Given the description of an element on the screen output the (x, y) to click on. 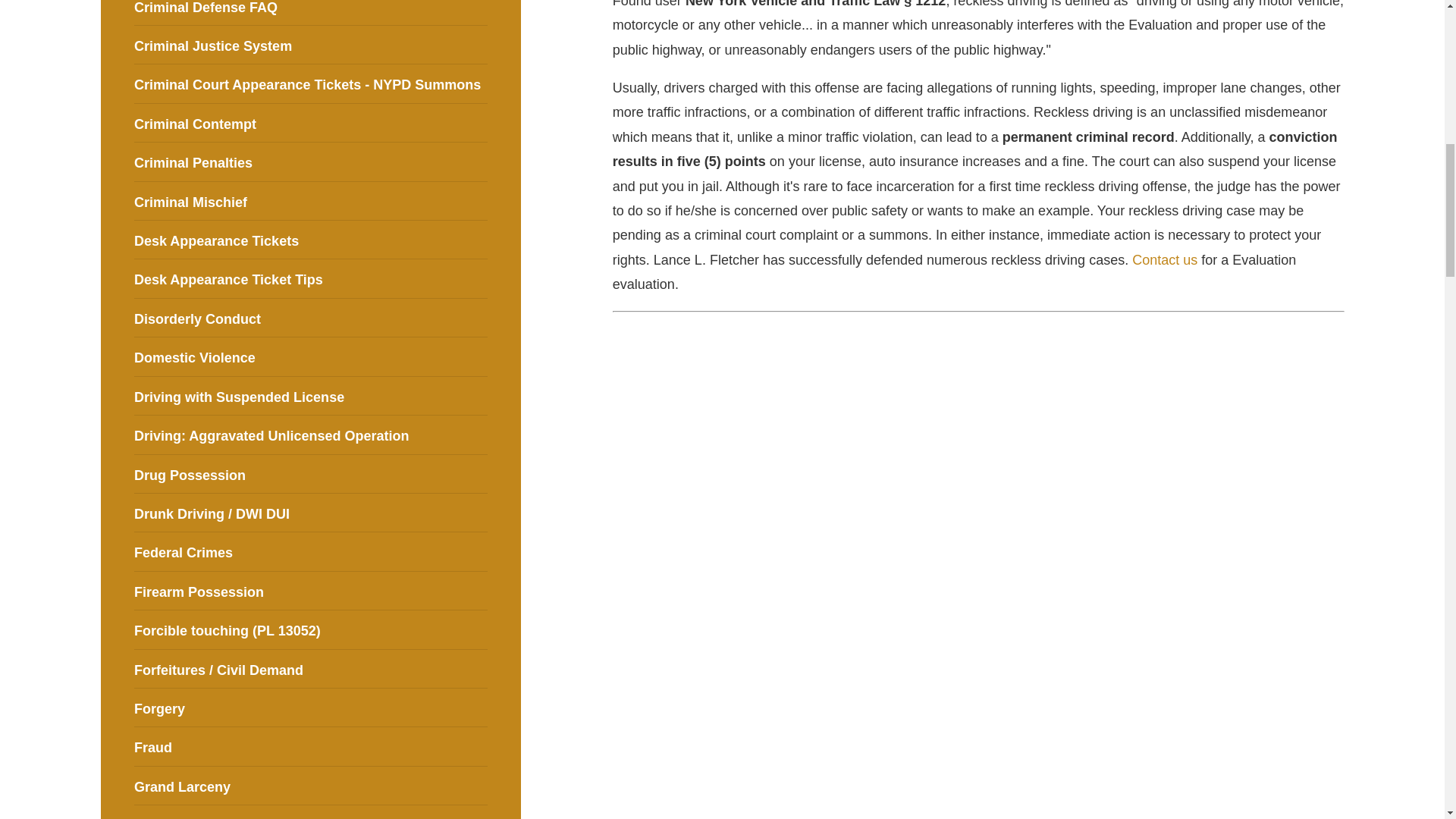
Open child menu of Desk Appearance Tickets (480, 239)
Open child menu of Forgery (480, 707)
Open child menu of Drug Possession (480, 473)
Open child menu of Criminal Penalties (480, 161)
Open child menu of Criminal Defense FAQ (480, 6)
